Given the description of an element on the screen output the (x, y) to click on. 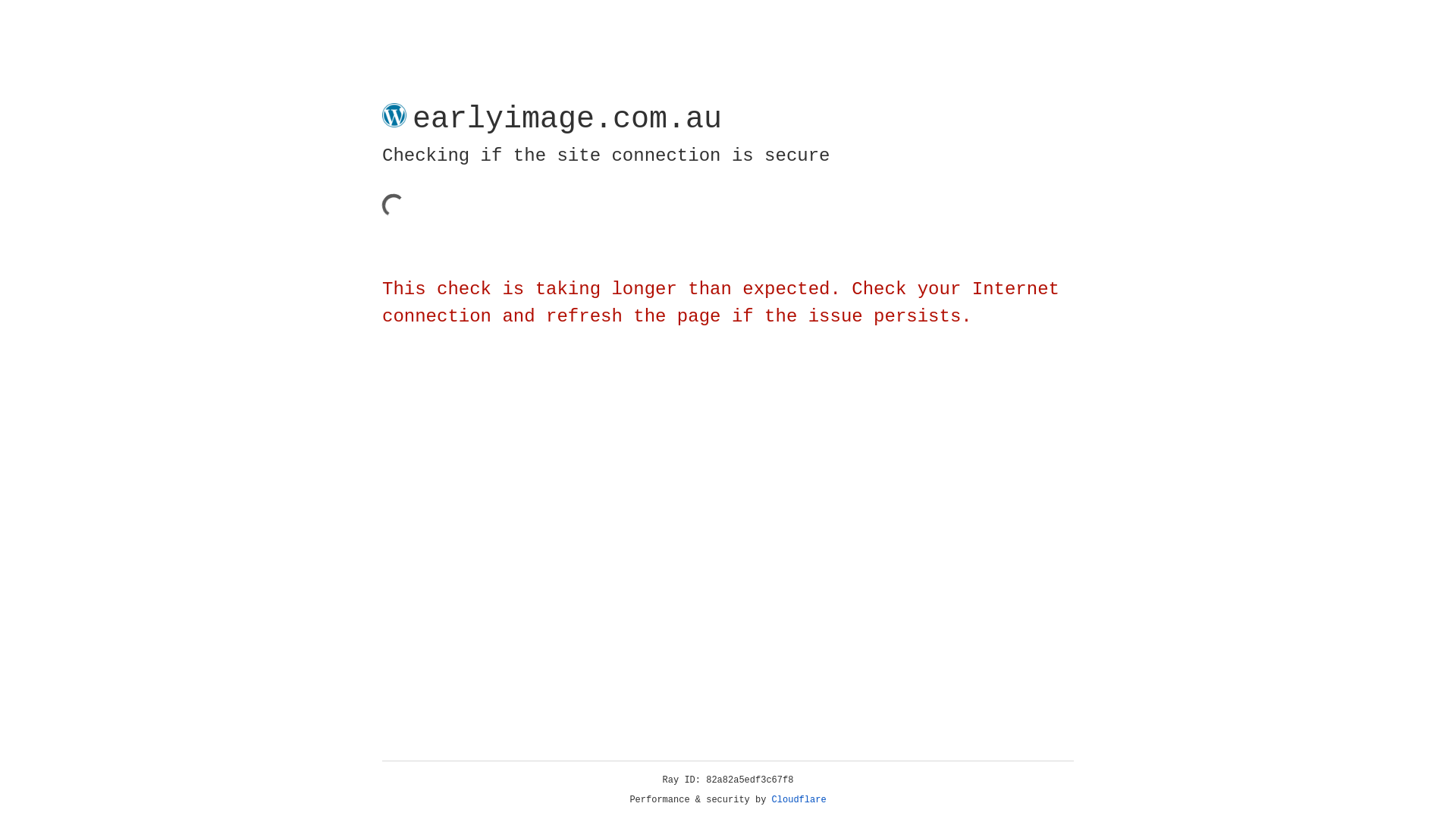
Cloudflare Element type: text (798, 799)
